Given the description of an element on the screen output the (x, y) to click on. 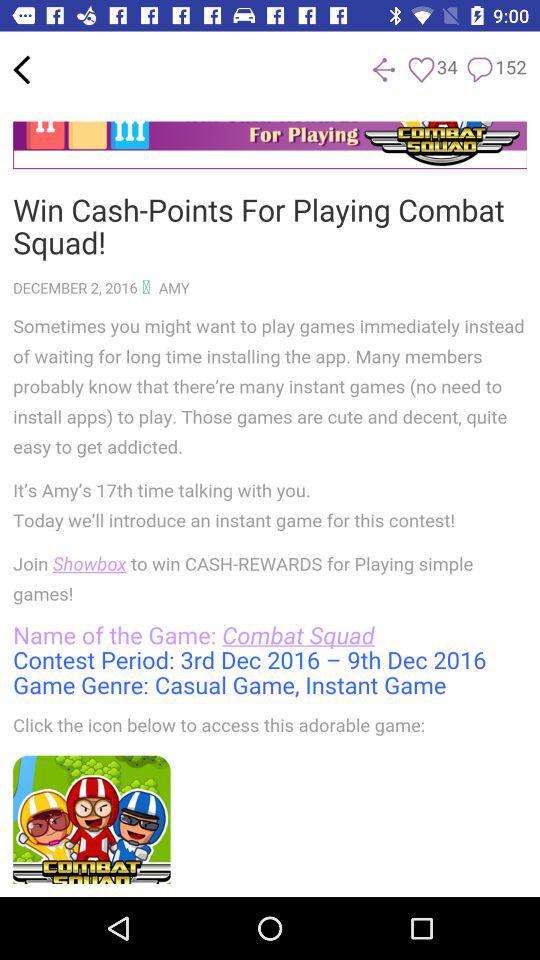
go to back (21, 69)
